Given the description of an element on the screen output the (x, y) to click on. 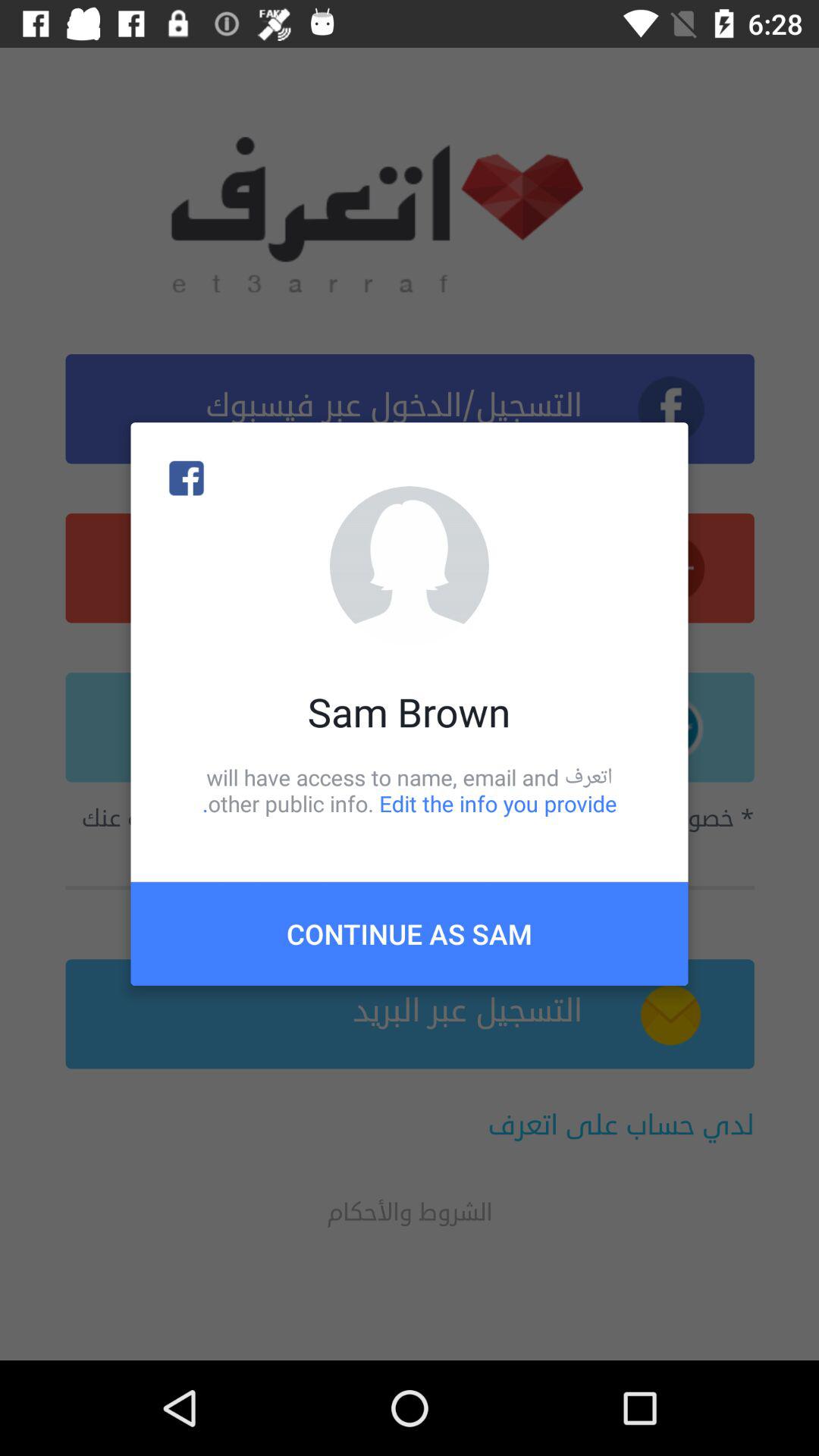
click the continue as sam item (409, 933)
